Given the description of an element on the screen output the (x, y) to click on. 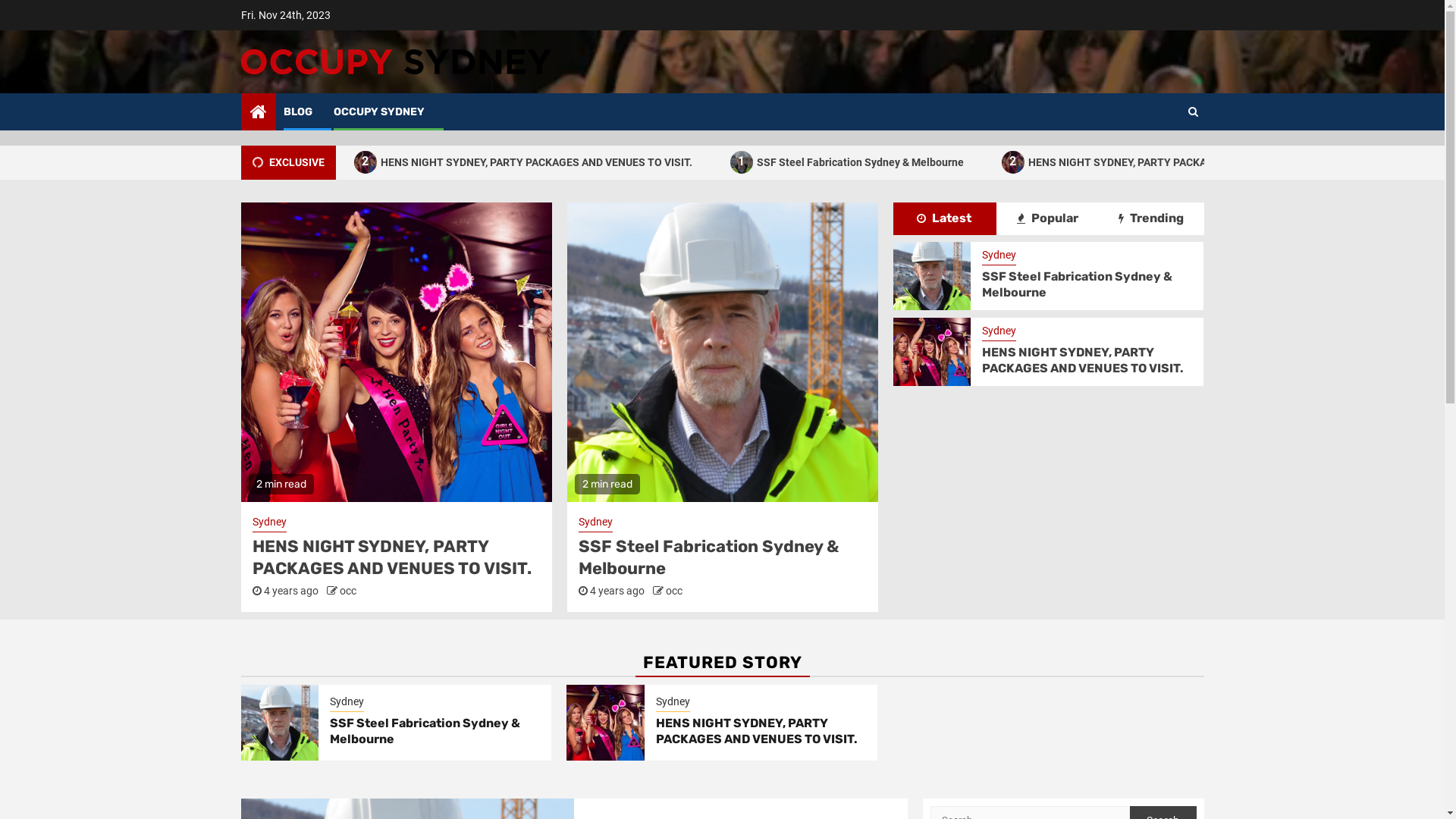
2
HENS NIGHT SYDNEY, PARTY PACKAGES AND VENUES TO VISIT. Element type: text (547, 162)
Sydney Element type: text (346, 702)
Popular Element type: text (1047, 218)
Search Element type: text (1163, 157)
SSF Steel Fabrication Sydney & Melbourne Element type: text (1077, 284)
HENS NIGHT SYDNEY, PARTY PACKAGES AND VENUES TO VISIT. Element type: text (1082, 360)
SSF Steel Fabrication Sydney & Melbourne Element type: text (707, 557)
BLOG Element type: text (297, 111)
HENS NIGHT SYDNEY, PARTY PACKAGES AND VENUES TO VISIT. Element type: text (390, 557)
Trending Element type: text (1151, 218)
Sydney Element type: text (999, 332)
HENS NIGHT SYDNEY, PARTY PACKAGES AND VENUES TO VISIT. Element type: text (756, 730)
Sydney Element type: text (672, 702)
Latest Element type: text (943, 218)
occ Element type: text (673, 590)
Sydney Element type: text (999, 256)
SSF Steel Fabrication Sydney & Melbourne Element type: text (424, 730)
Sydney Element type: text (594, 523)
SSF Steel Fabrication Sydney & Melbourne Element type: text (223, 162)
2
HENS NIGHT SYDNEY, PARTY PACKAGES AND VENUES TO VISIT. Element type: text (1194, 162)
Sydney Element type: text (268, 523)
1
SSF Steel Fabrication Sydney & Melbourne Element type: text (871, 162)
Search Element type: hover (1192, 111)
OCCUPY SYDNEY Element type: text (378, 111)
occ Element type: text (347, 590)
